Given the description of an element on the screen output the (x, y) to click on. 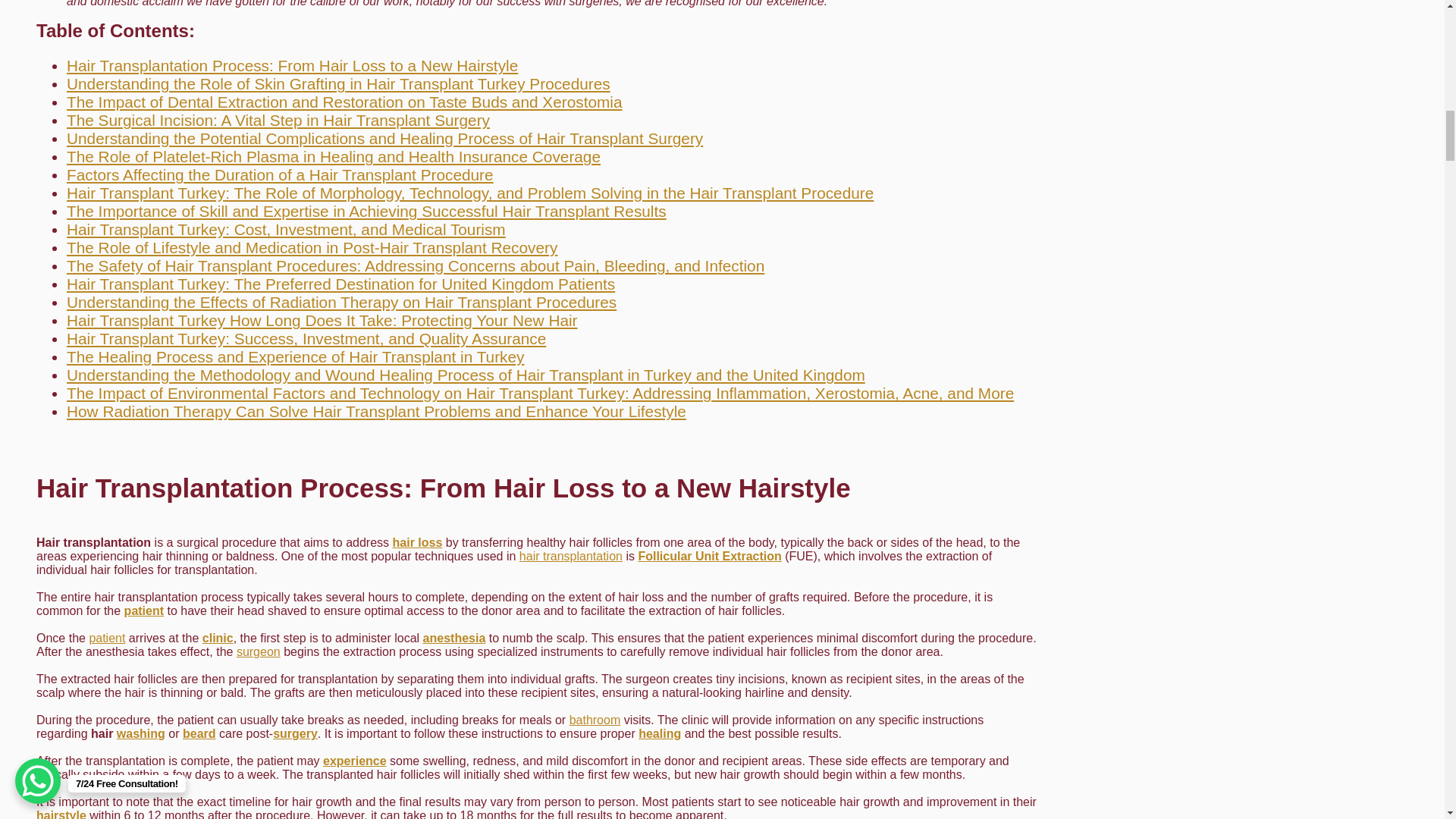
surgeon (258, 651)
washing (140, 733)
patient (106, 637)
hair transplantation (571, 555)
bathroom (595, 719)
